Given the description of an element on the screen output the (x, y) to click on. 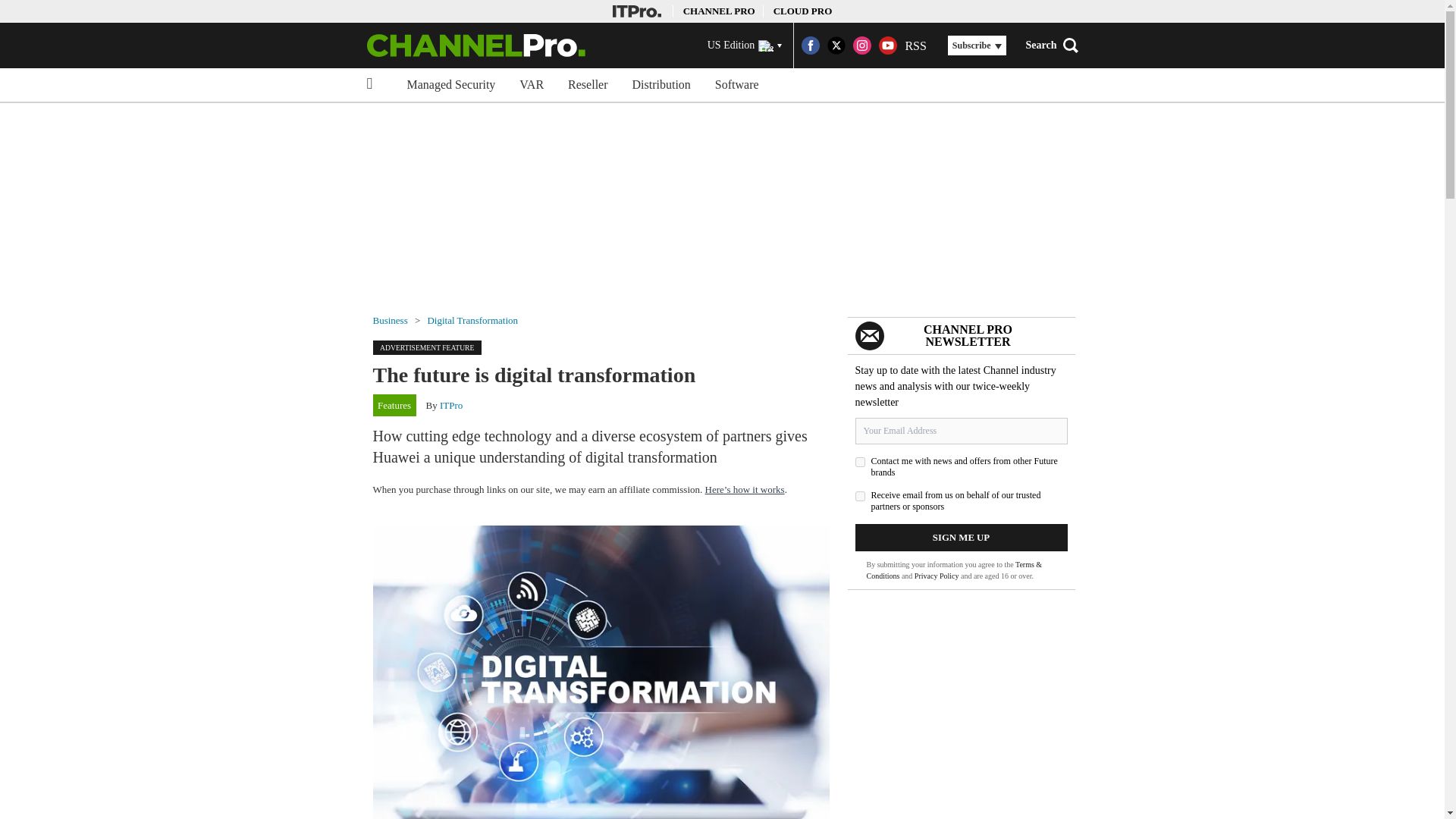
VAR (531, 84)
Managed Security (450, 84)
CHANNEL PRO (718, 10)
on (860, 496)
Software (737, 84)
Digital Transformation (472, 319)
Sign me up (961, 537)
CLOUD PRO (802, 10)
Distribution (661, 84)
US Edition (745, 45)
